Given the description of an element on the screen output the (x, y) to click on. 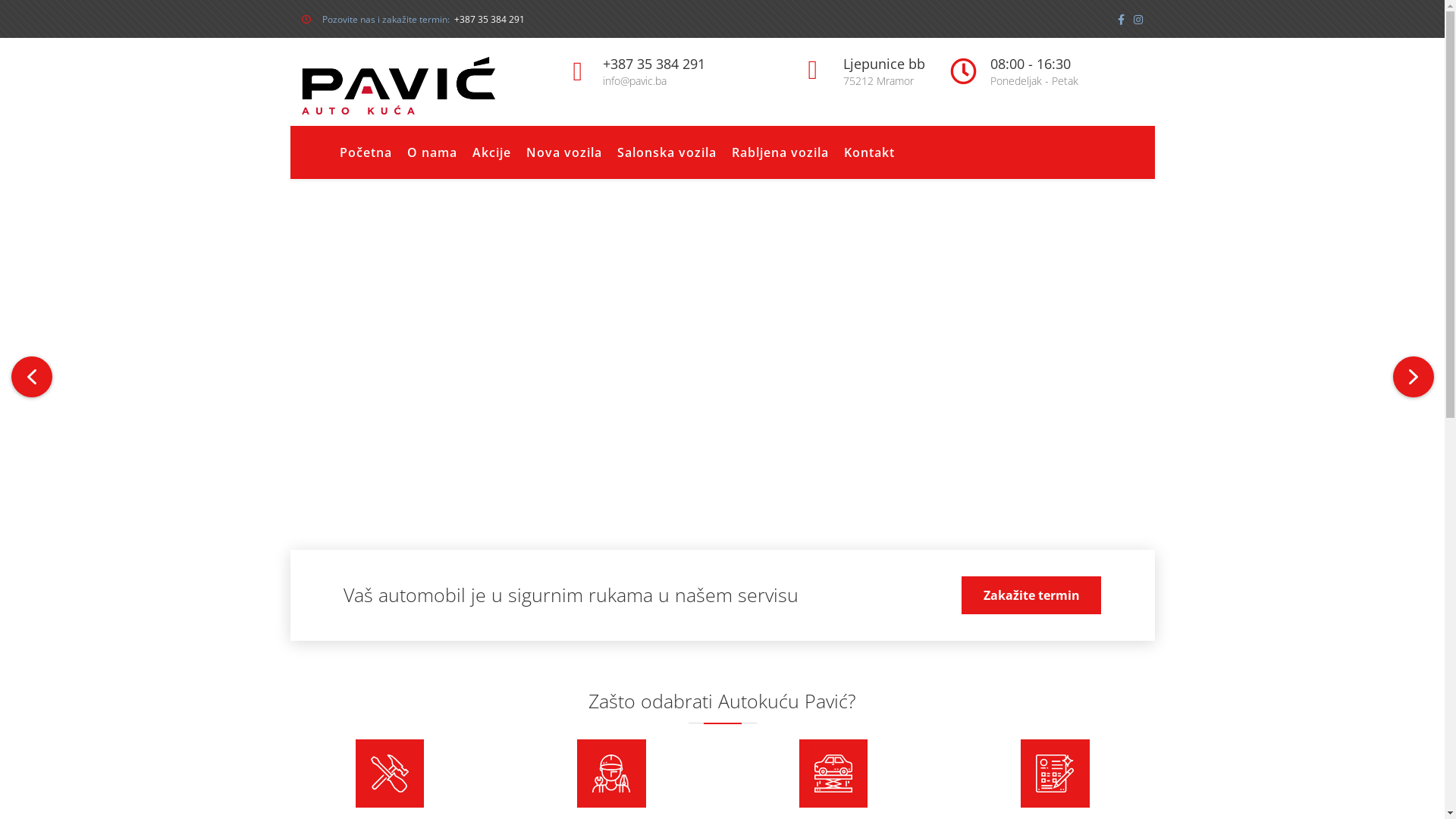
O nama Element type: text (431, 151)
instagram Element type: text (1137, 19)
Rabljena vozila Element type: text (779, 151)
Akcije Element type: text (490, 151)
facebook Element type: text (1124, 19)
Kontakt Element type: text (868, 151)
Salonska vozila Element type: text (666, 151)
+387 35 384 291 Element type: text (487, 18)
Nova vozila Element type: text (563, 151)
